Given the description of an element on the screen output the (x, y) to click on. 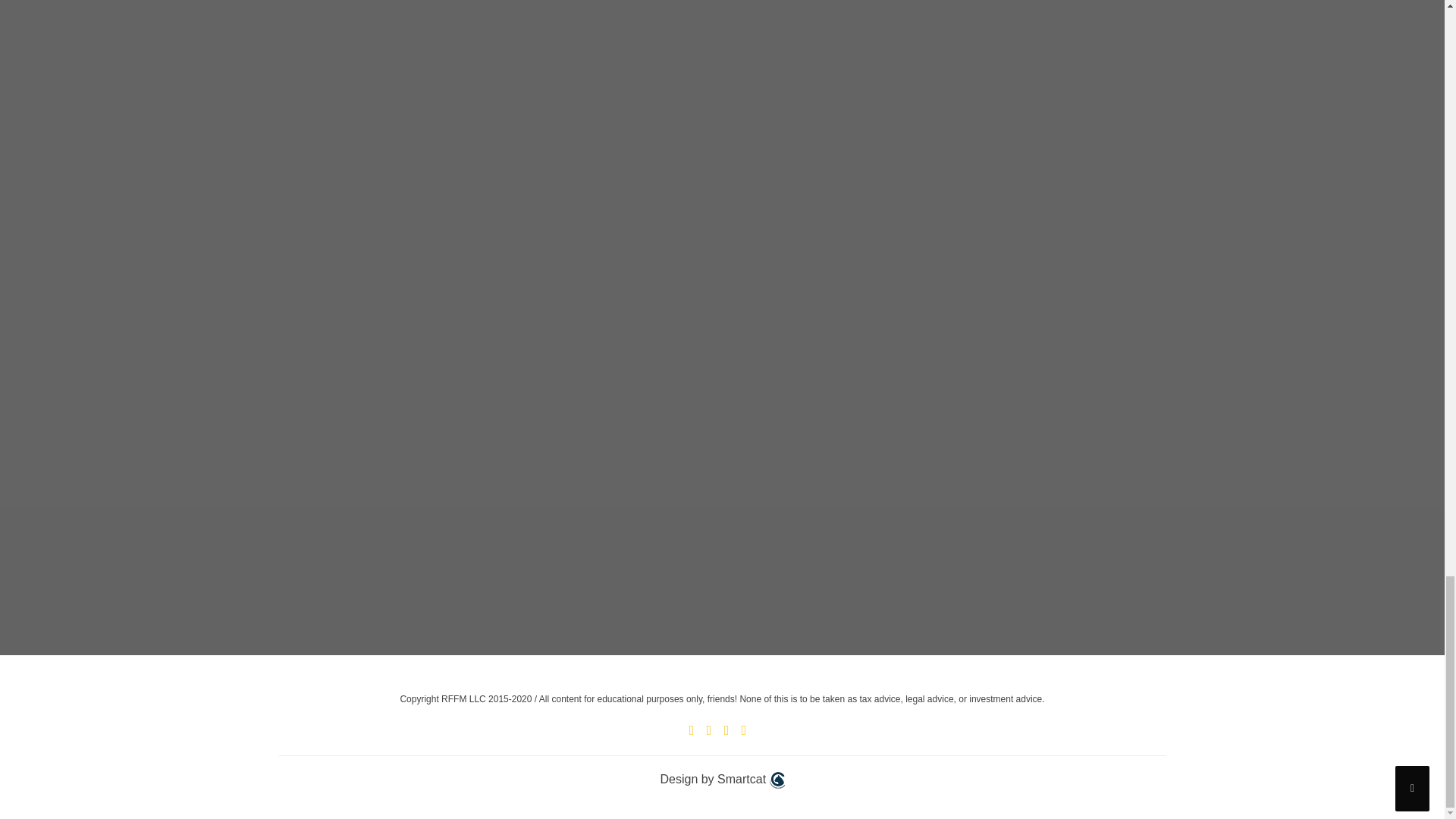
Design by Smartcat (722, 779)
